Given the description of an element on the screen output the (x, y) to click on. 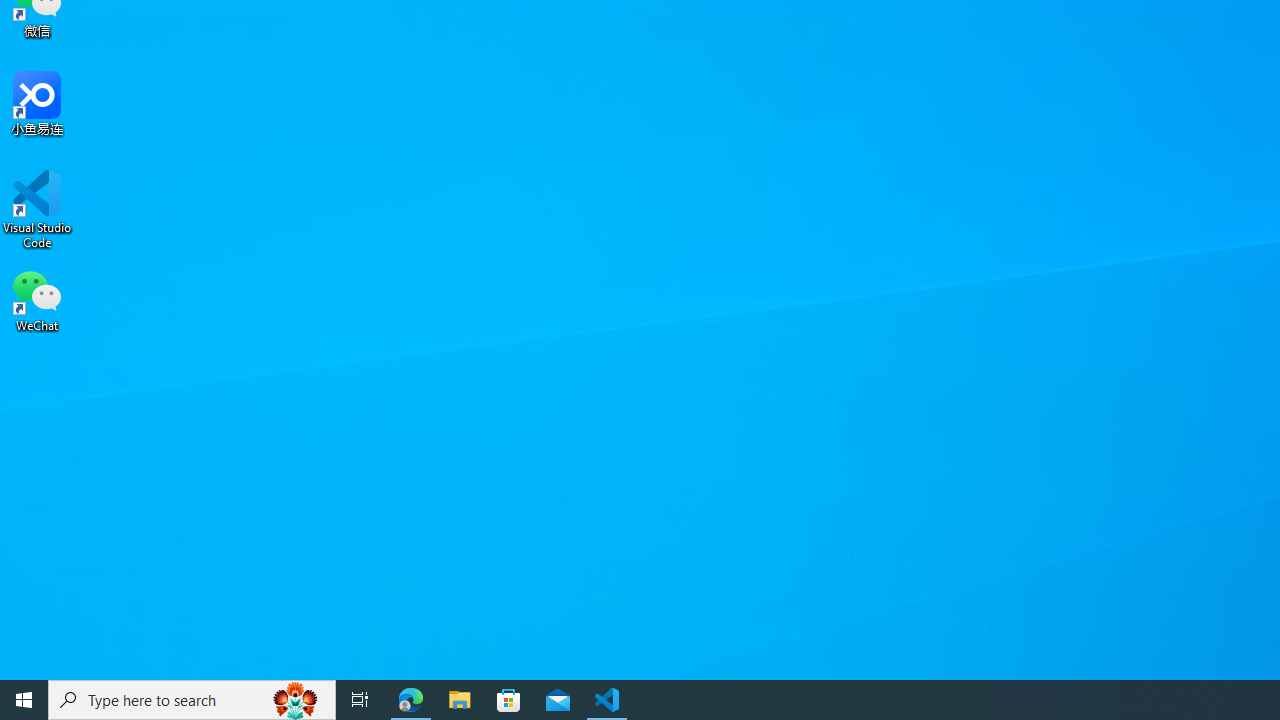
Microsoft Edge - 1 running window (411, 699)
Microsoft Store (509, 699)
Visual Studio Code (37, 209)
Type here to search (191, 699)
Visual Studio Code - 1 running window (607, 699)
Task View (359, 699)
WeChat (37, 299)
Search highlights icon opens search home window (295, 699)
Start (24, 699)
File Explorer (460, 699)
